Given the description of an element on the screen output the (x, y) to click on. 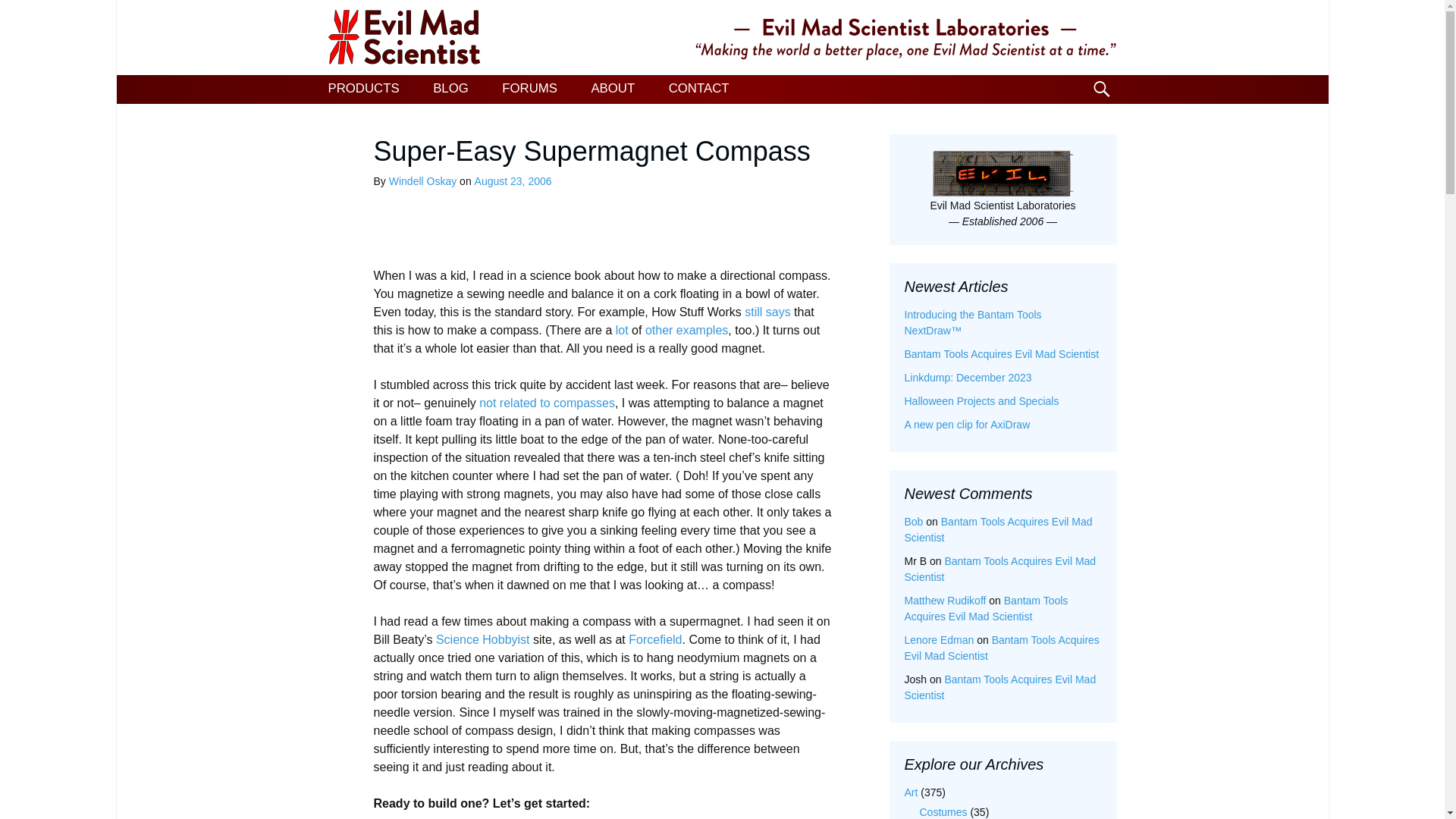
PRODUCTS (363, 89)
Forcefield (654, 639)
BLOG (450, 89)
Windell Oskay (422, 181)
Evil Mad Scientist Laboratories (722, 37)
Search (18, 15)
Science Hobbyist (482, 639)
FORUMS (529, 89)
Permalink to Super-Easy Supermagnet Compass (512, 181)
CONTACT (698, 89)
other (658, 329)
E-mail contact form (698, 89)
Evil Mad Scientist Forum (529, 89)
